Given the description of an element on the screen output the (x, y) to click on. 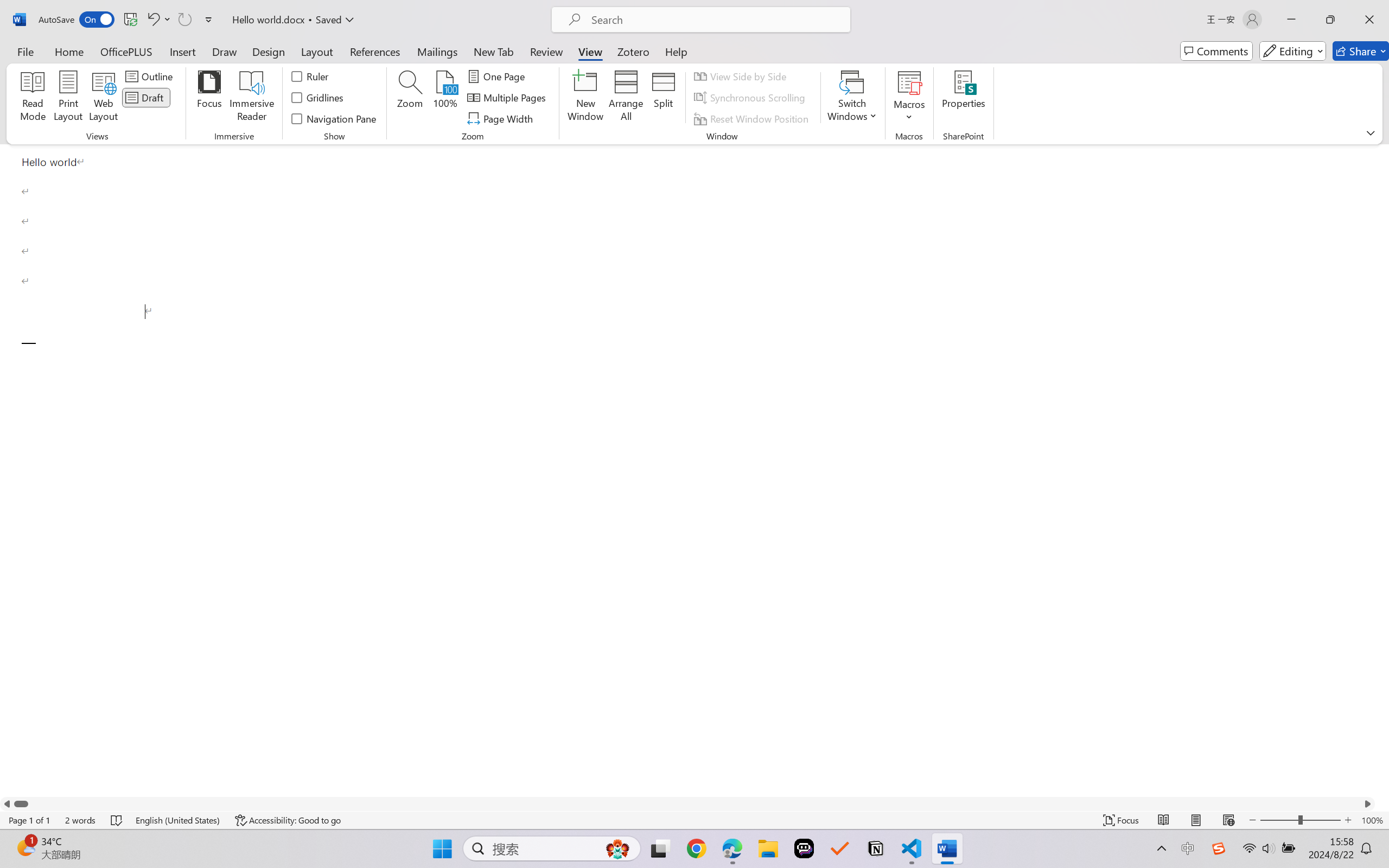
Zoom In (1348, 819)
Reset Window Position (752, 118)
One Page (497, 75)
Spelling and Grammar Check No Errors (117, 819)
Close (1369, 19)
Arrange All (625, 97)
Zotero (632, 51)
Draft (146, 97)
Gridlines (317, 97)
View Macros (909, 81)
AutoSave (76, 19)
Macros (909, 97)
Multiple Pages (507, 97)
Microsoft search (715, 19)
Minimize (1291, 19)
